Given the description of an element on the screen output the (x, y) to click on. 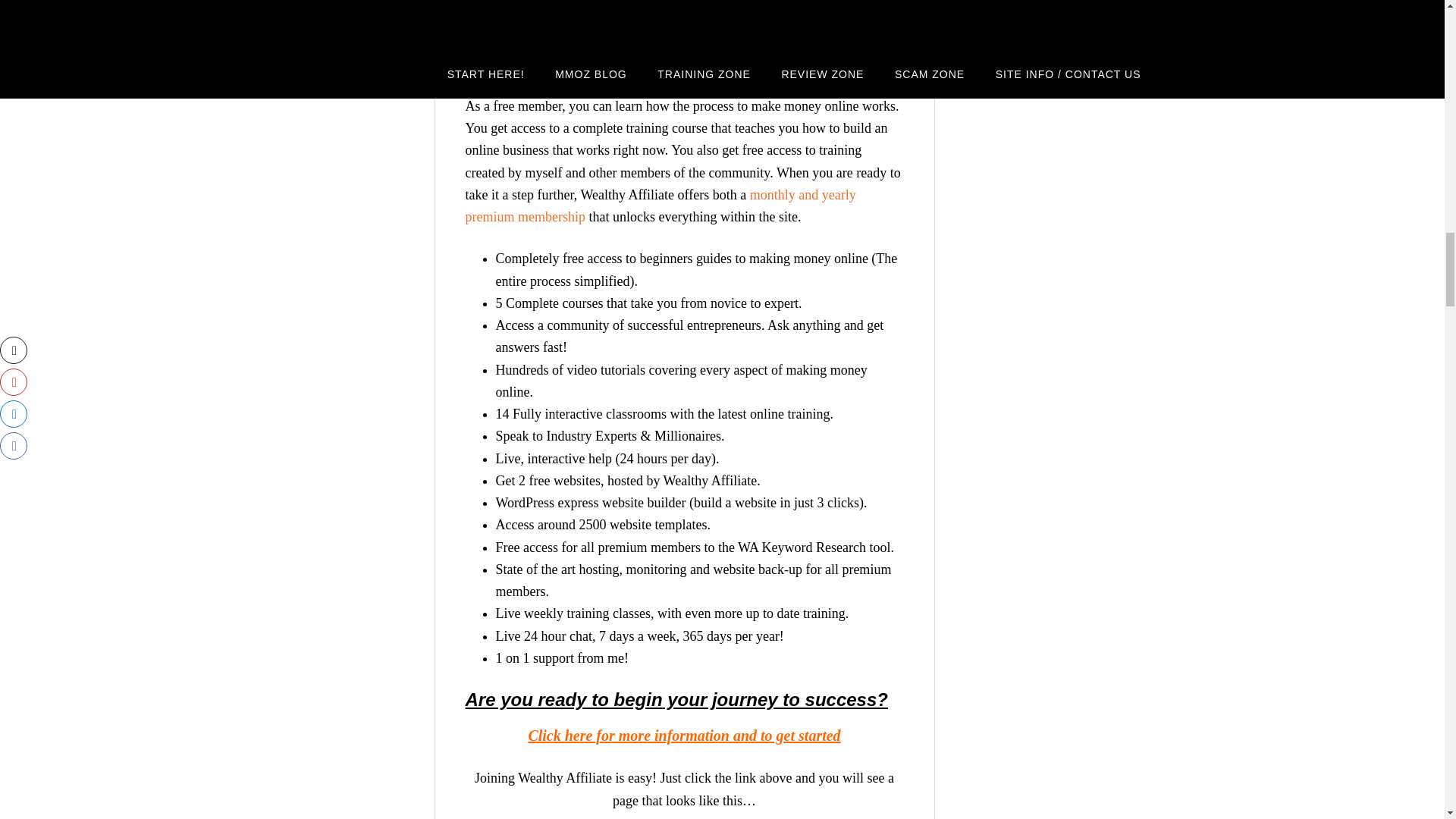
Click here for more information and to get started (683, 735)
monthly and yearly premium membership (660, 205)
The Ultimate Wealthy Affiliate Review (683, 735)
